Given the description of an element on the screen output the (x, y) to click on. 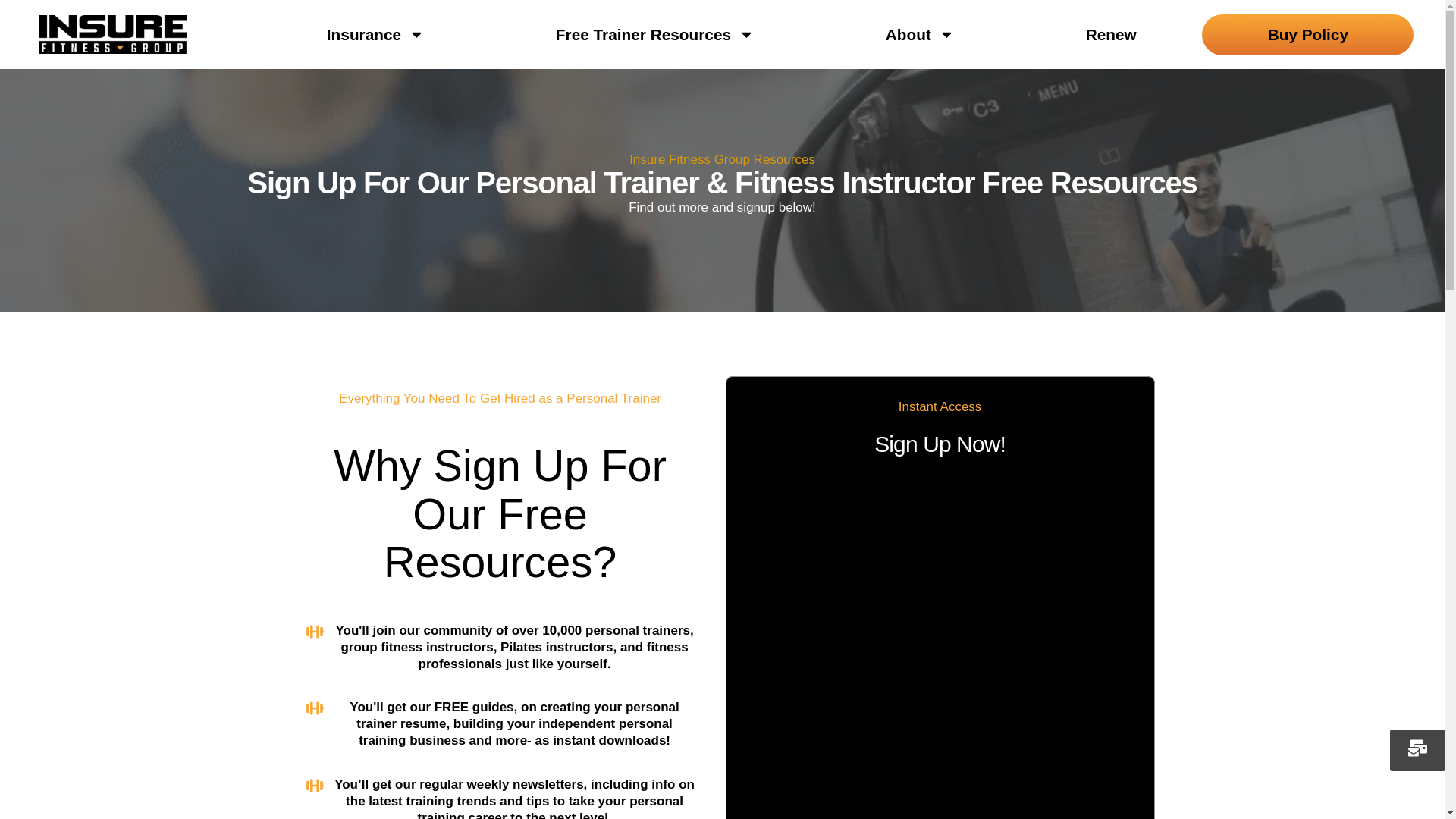
Renew (1111, 34)
About (920, 34)
Buy Policy (1307, 34)
Free Trainer Resources (654, 34)
Insurance (375, 34)
